Given the description of an element on the screen output the (x, y) to click on. 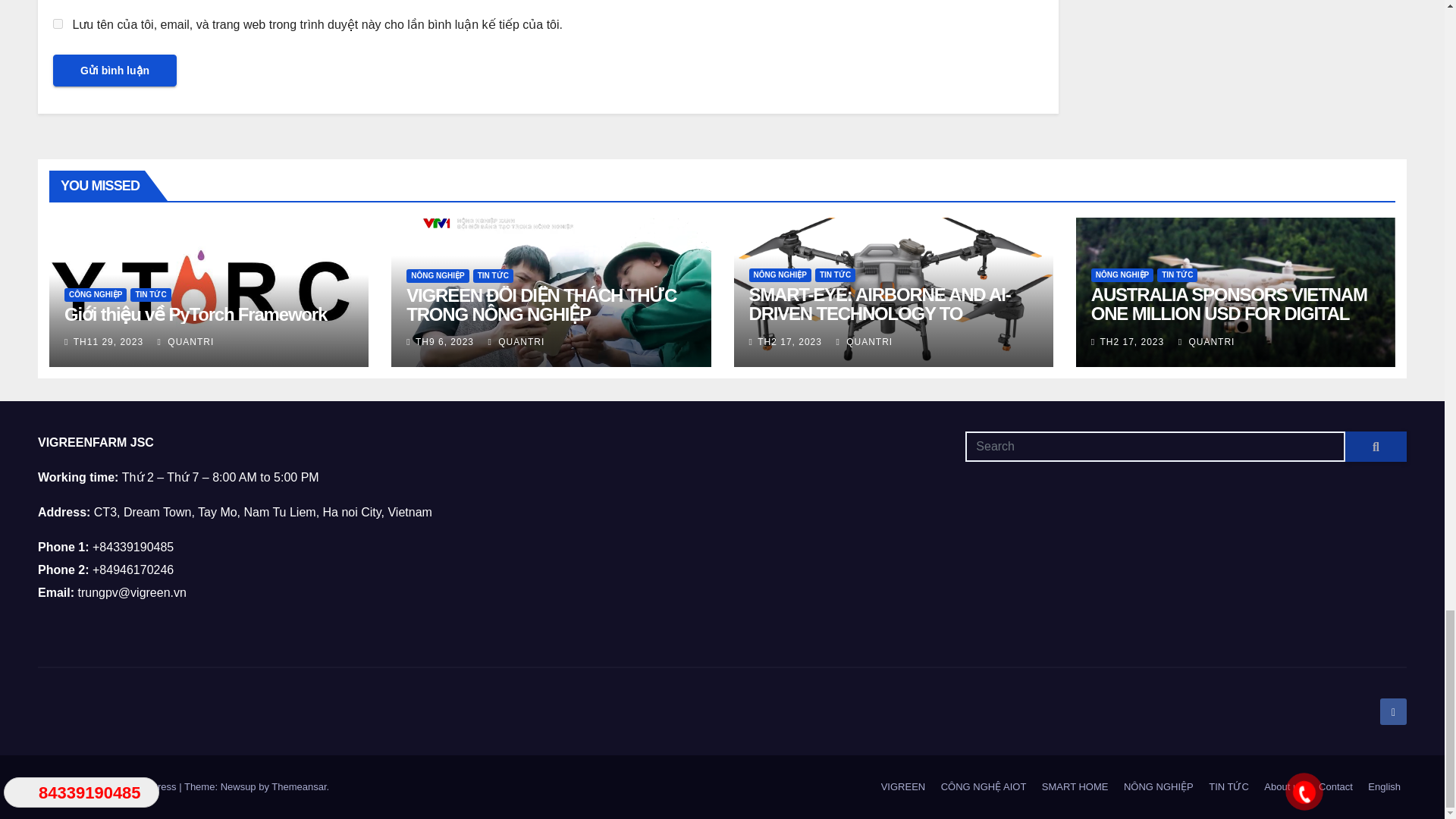
yes (57, 23)
